Given the description of an element on the screen output the (x, y) to click on. 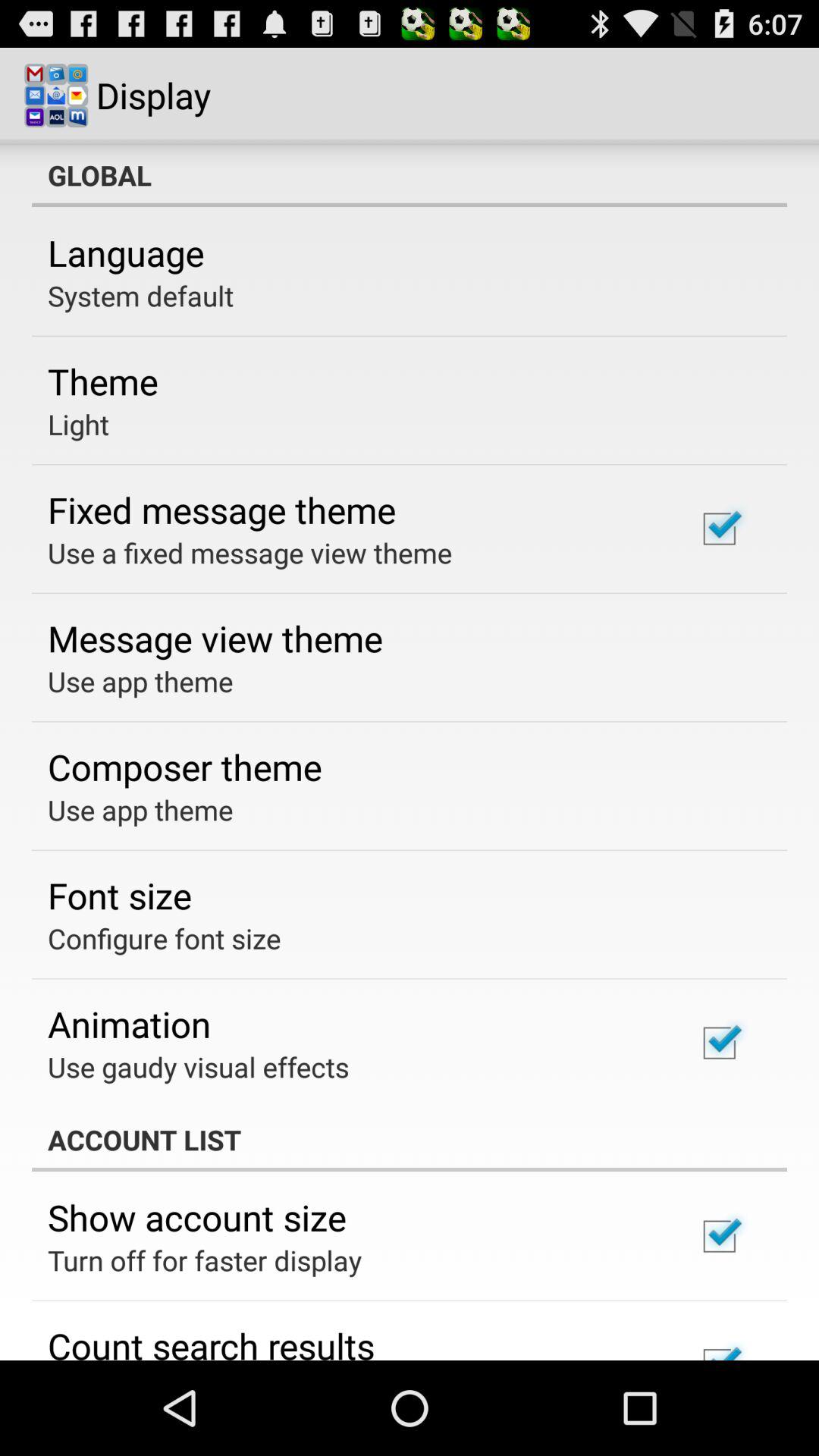
flip to language icon (125, 252)
